Given the description of an element on the screen output the (x, y) to click on. 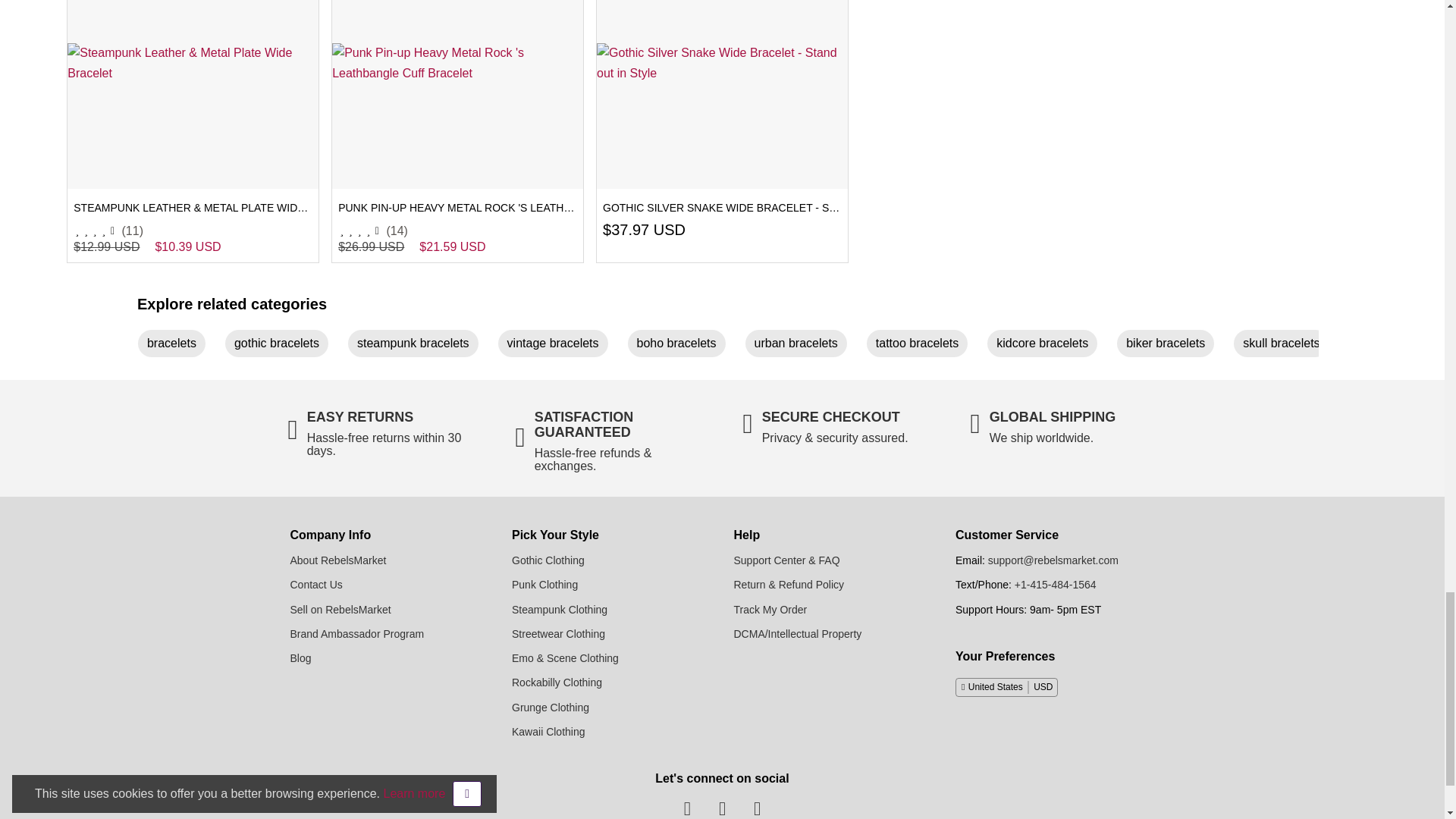
bracelets (177, 345)
tattoo bracelets (922, 345)
kidcore bracelets (1048, 345)
skull bracelets (1286, 345)
boho bracelets (682, 345)
urban bracelets (802, 345)
steampunk bracelets (418, 345)
gothic bracelets (282, 345)
biker bracelets (1170, 345)
